Given the description of an element on the screen output the (x, y) to click on. 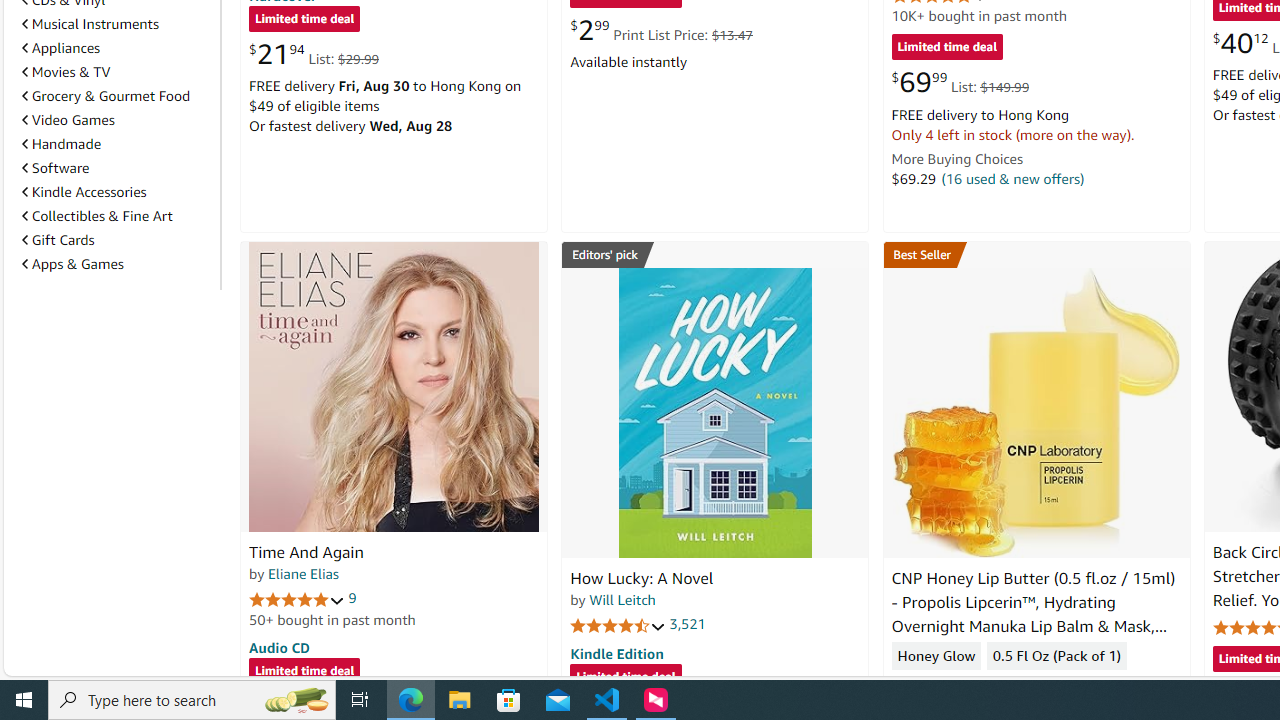
Apps & Games (72, 263)
Apps & Games (117, 264)
Editors' pick Best Mystery, Thriller & Suspense (715, 254)
Gift Cards (117, 239)
Video Games (68, 119)
$69.99 List: $149.99 (960, 82)
Movies & TV (66, 71)
$21.94 List: $29.99 (314, 54)
Time And Again (393, 386)
Software (117, 167)
Grocery & Gourmet Food (105, 96)
5.0 out of 5 stars (297, 598)
Eliane Elias (303, 573)
